Given the description of an element on the screen output the (x, y) to click on. 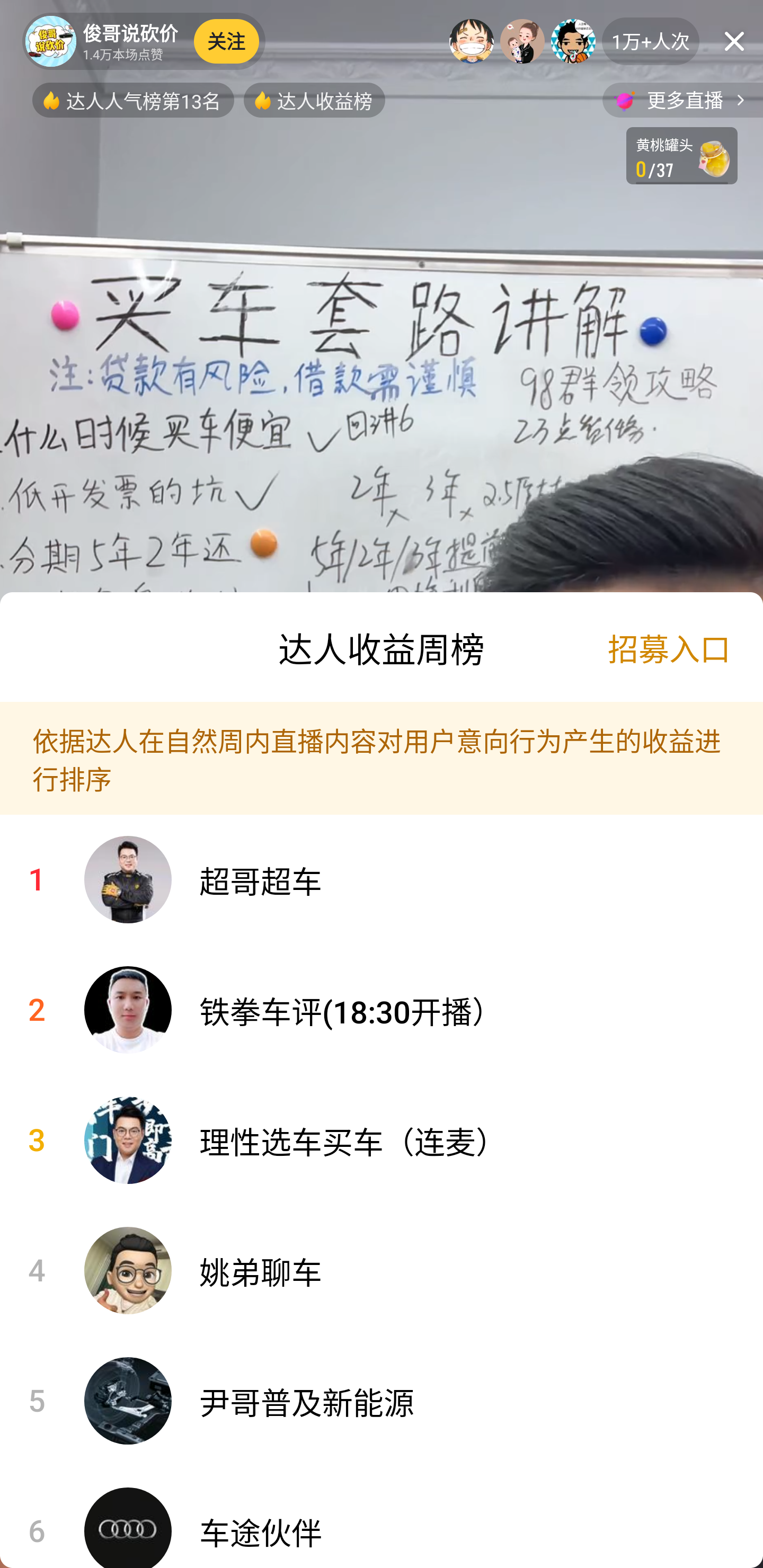
招募入口 (669, 647)
1 超哥超车 (381, 880)
2 铁拳车评(18:30开播） (381, 1010)
3 理性选车买车（连麦） (381, 1140)
4 姚弟聊车 (381, 1270)
5 尹哥普及新能源 (381, 1400)
6 车途伙伴 (381, 1517)
